Given the description of an element on the screen output the (x, y) to click on. 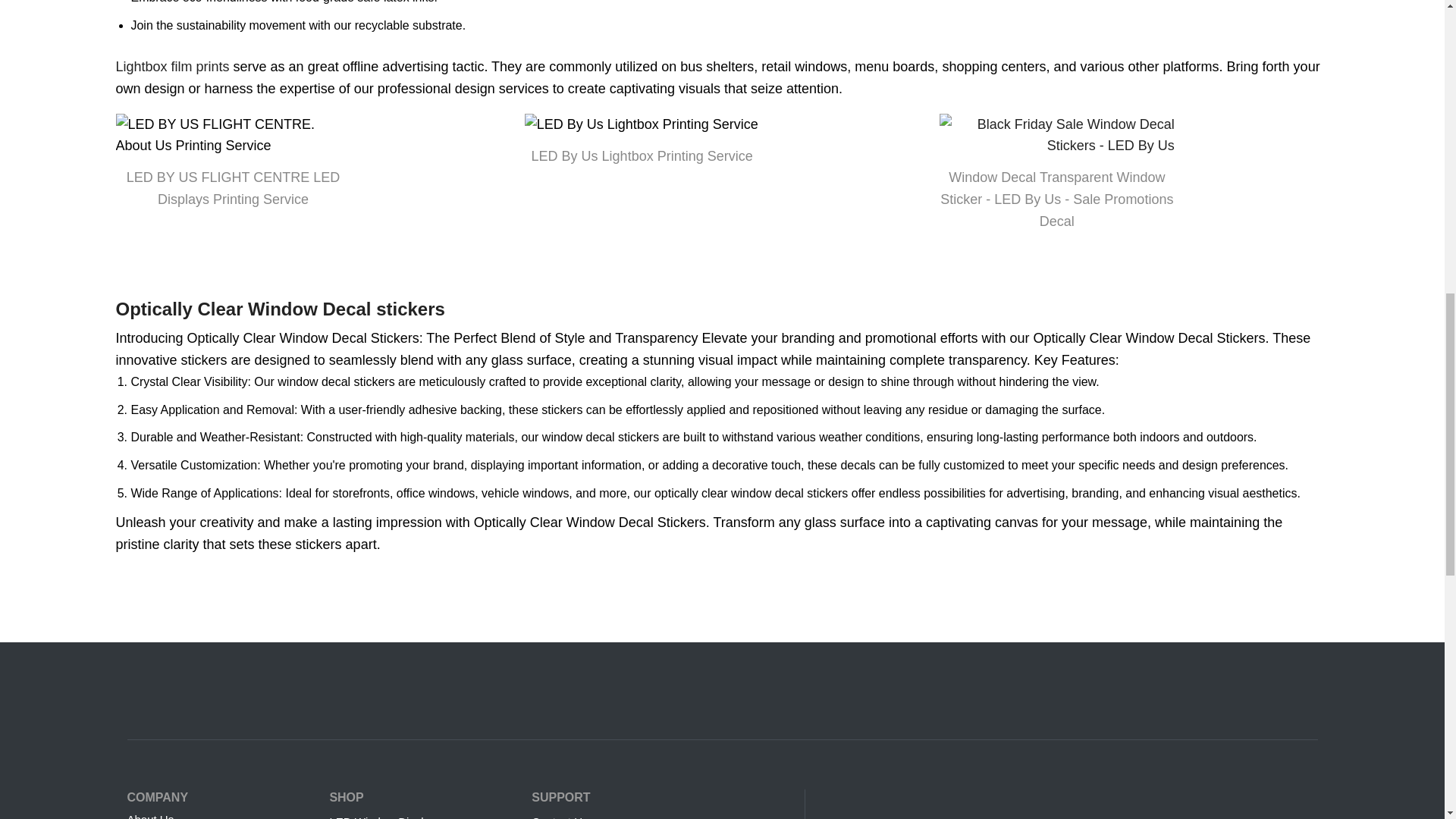
About Us (221, 812)
Contact Us (660, 812)
LED Window Displays (422, 812)
